Given the description of an element on the screen output the (x, y) to click on. 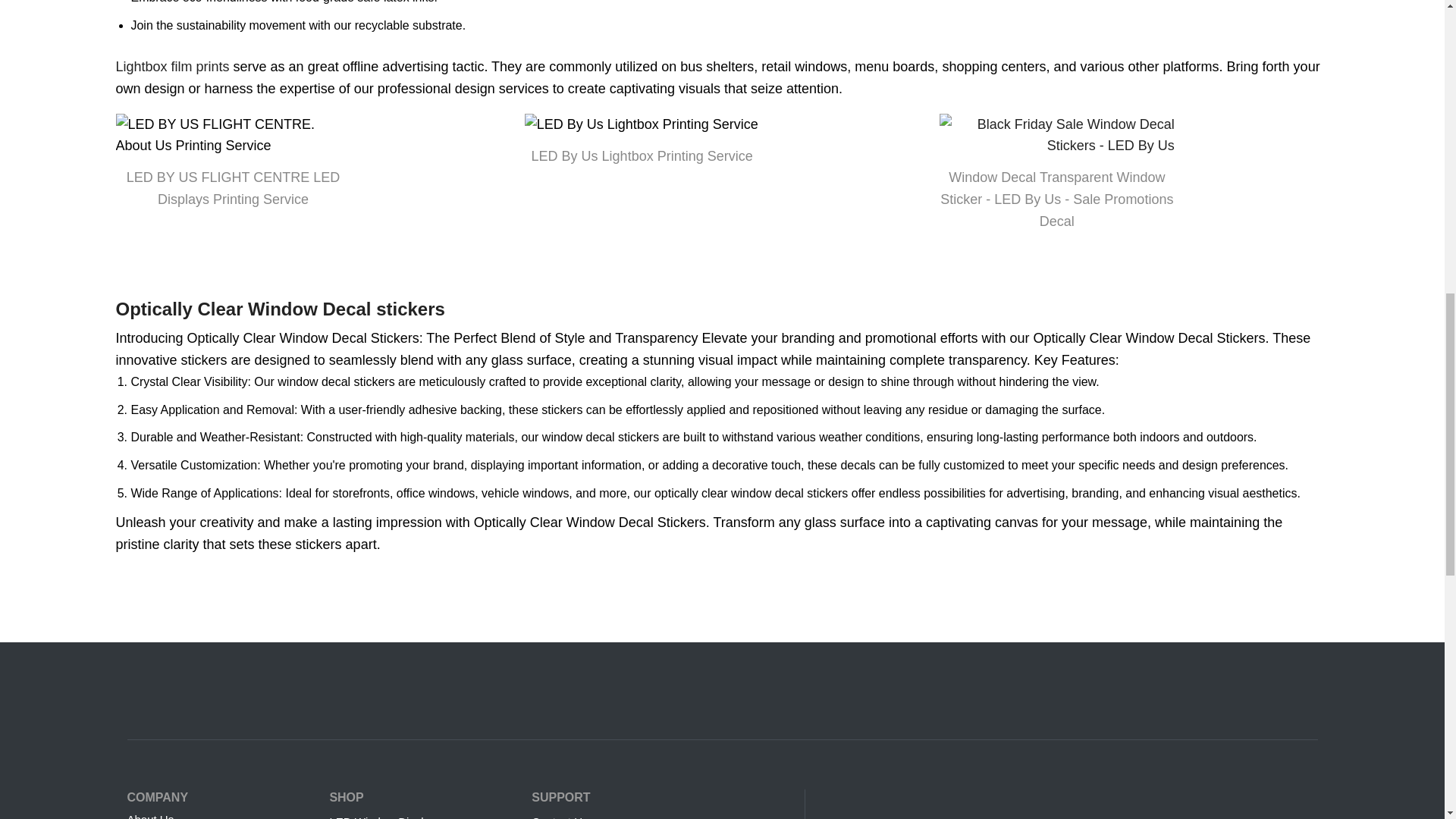
About Us (221, 812)
Contact Us (660, 812)
LED Window Displays (422, 812)
